Given the description of an element on the screen output the (x, y) to click on. 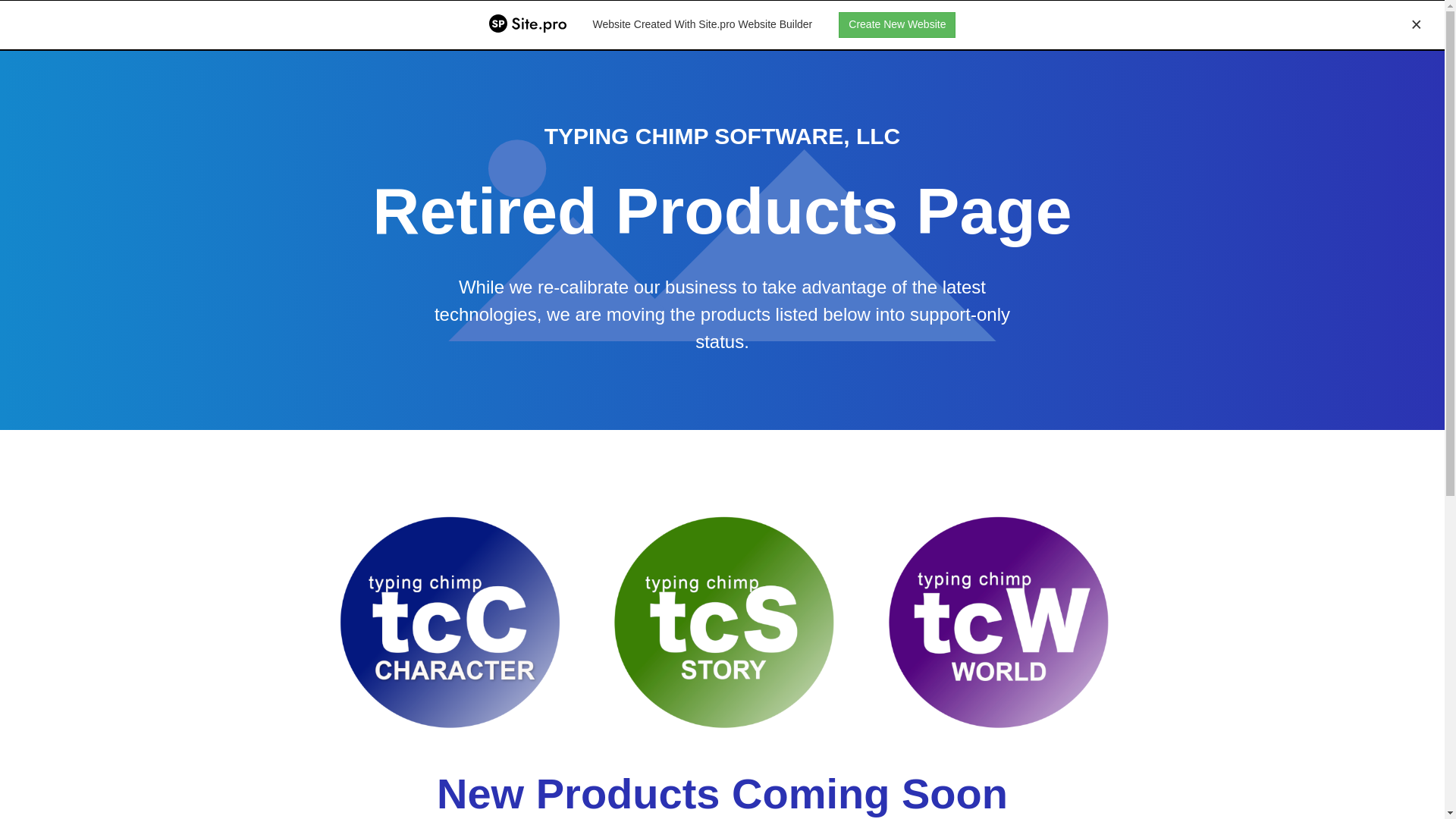
Create New Website (896, 24)
Professional Website Builder (527, 24)
Create New Website (896, 24)
